Given the description of an element on the screen output the (x, y) to click on. 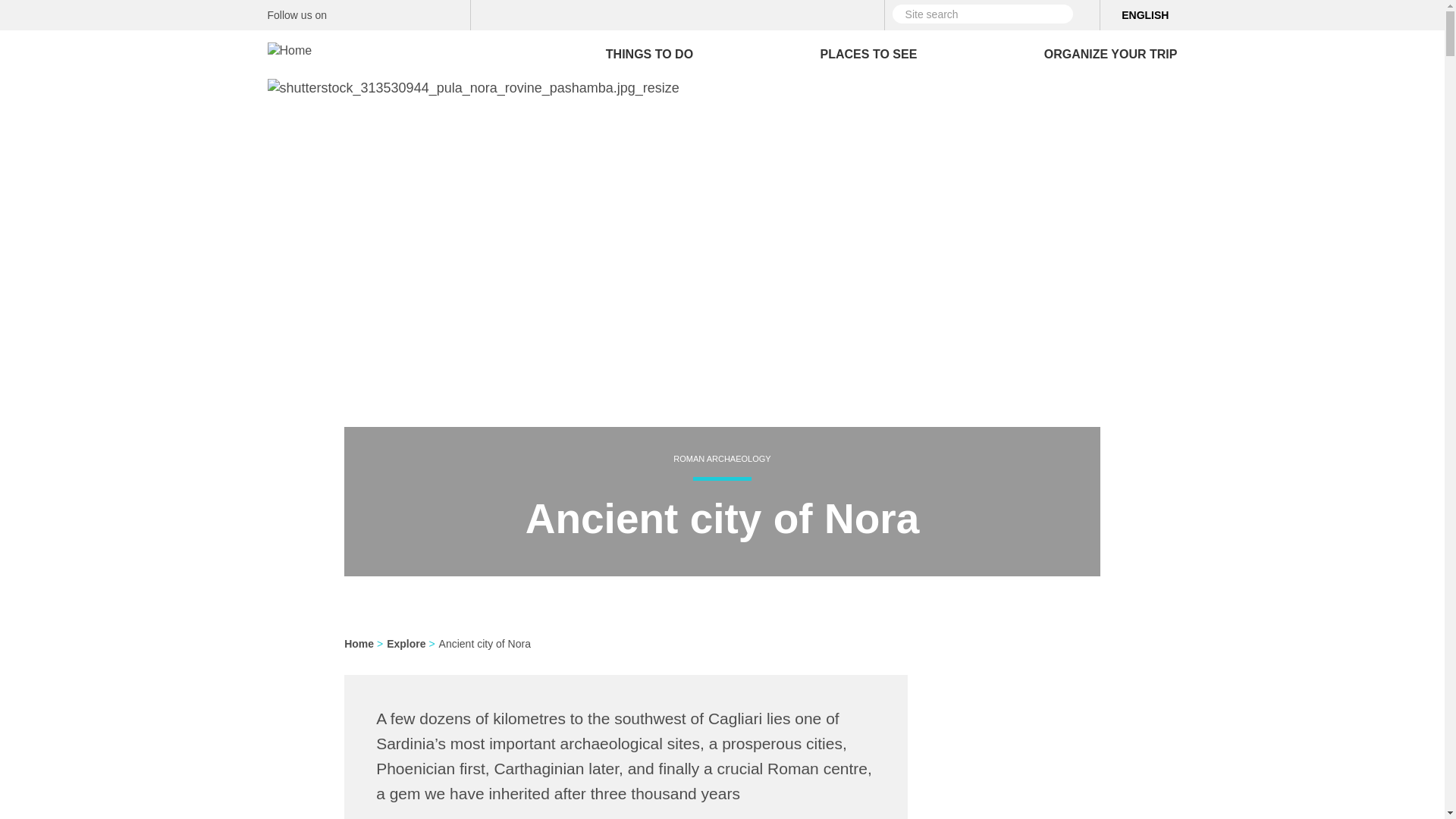
PLACES TO SEE (869, 54)
THINGS TO DO (649, 54)
Applica (1084, 13)
Twitter (373, 14)
Home (288, 50)
Flickr (425, 14)
Facebook (346, 14)
Instagram (399, 14)
Youtube (453, 14)
Home (294, 44)
ORGANIZE YOUR TRIP (1110, 54)
ENGLISH (1145, 15)
